Given the description of an element on the screen output the (x, y) to click on. 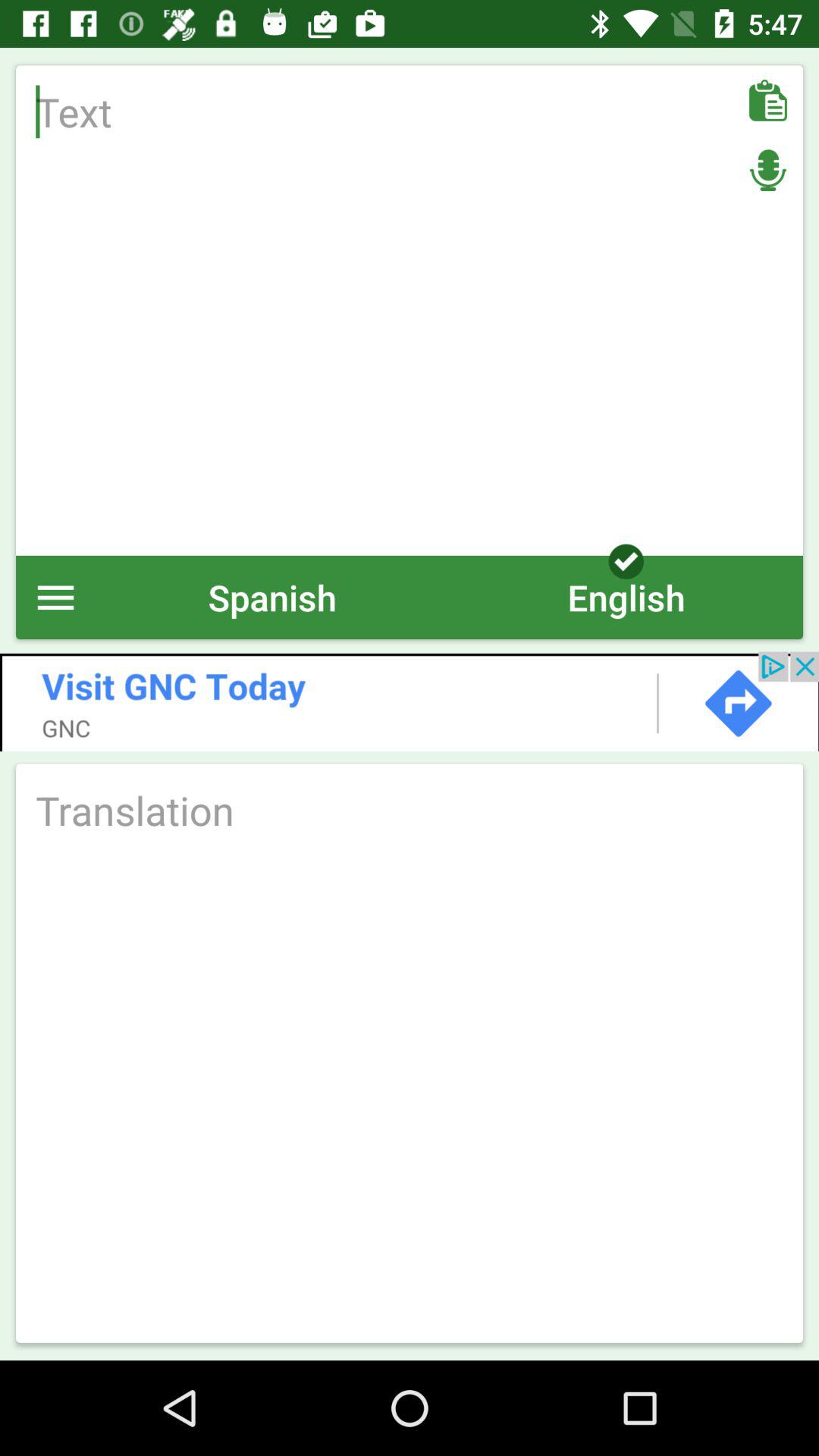
save as option (768, 100)
